Given the description of an element on the screen output the (x, y) to click on. 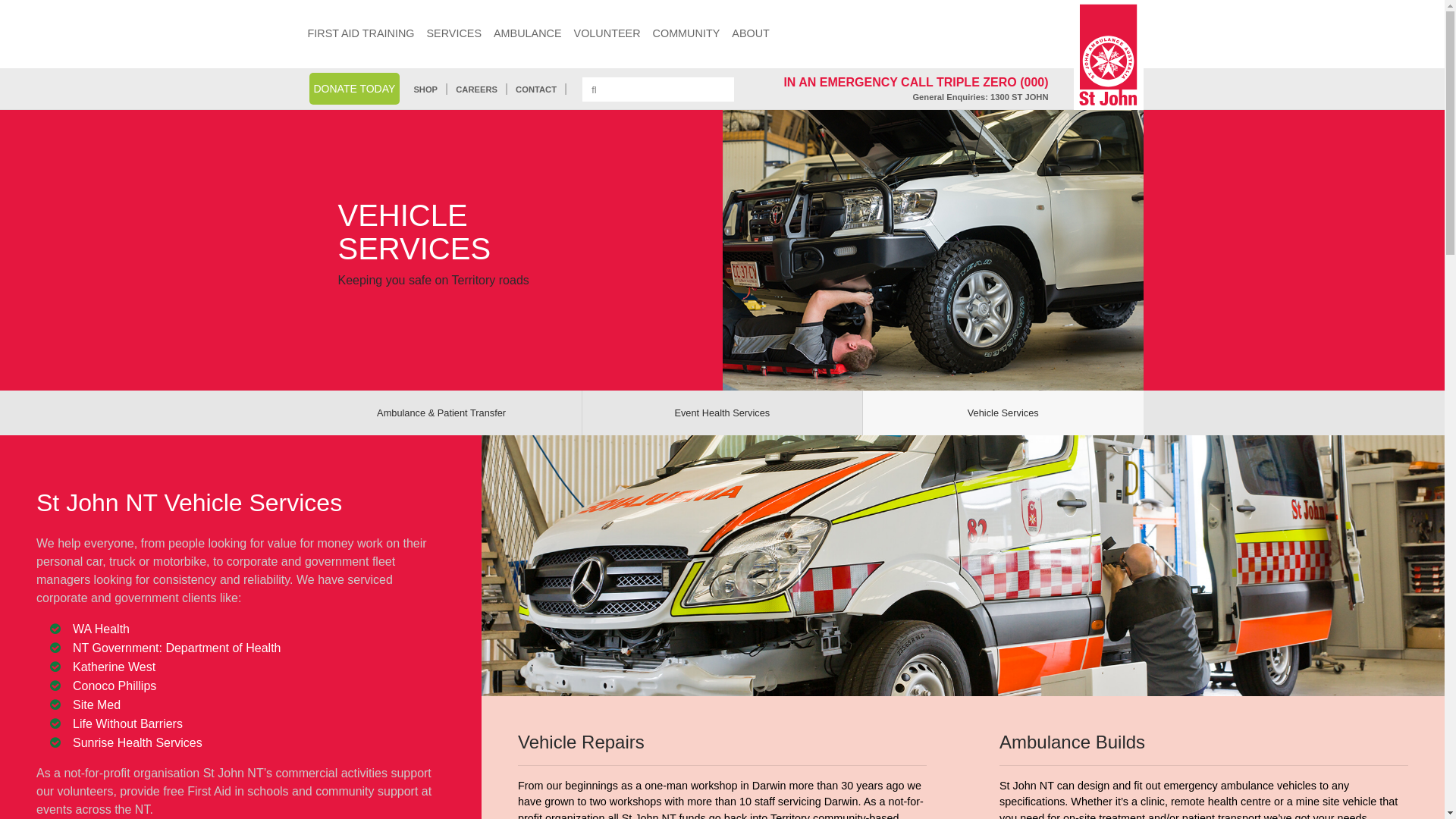
CAREERS Element type: text (476, 89)
Event Health Services Element type: text (722, 412)
FIRST AID TRAINING Element type: text (360, 33)
DONATE TODAY Element type: text (361, 89)
VOLUNTEER Element type: text (606, 33)
AMBULANCE Element type: text (527, 33)
DONATE TODAY Element type: text (354, 88)
ABOUT Element type: text (750, 33)
At least 3 characters Element type: hover (658, 89)
SERVICES Element type: text (453, 33)
CONTACT Element type: text (535, 89)
Vehicle Services Element type: text (1002, 412)
COMMUNITY Element type: text (686, 33)
SHOP Element type: text (425, 89)
Ambulance & Patient Transfer Element type: text (441, 412)
